Given the description of an element on the screen output the (x, y) to click on. 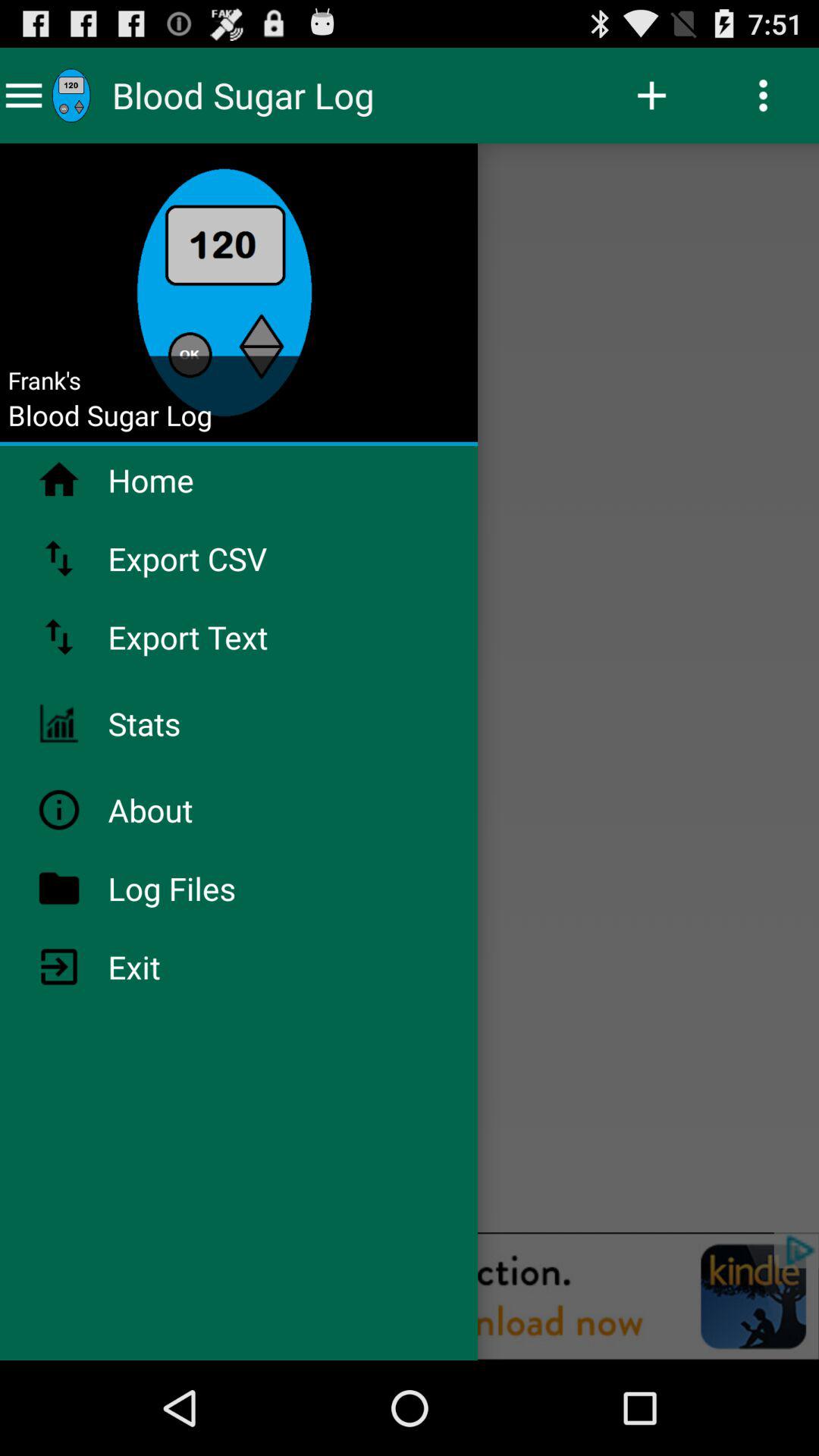
launch app below export csv (227, 636)
